Given the description of an element on the screen output the (x, y) to click on. 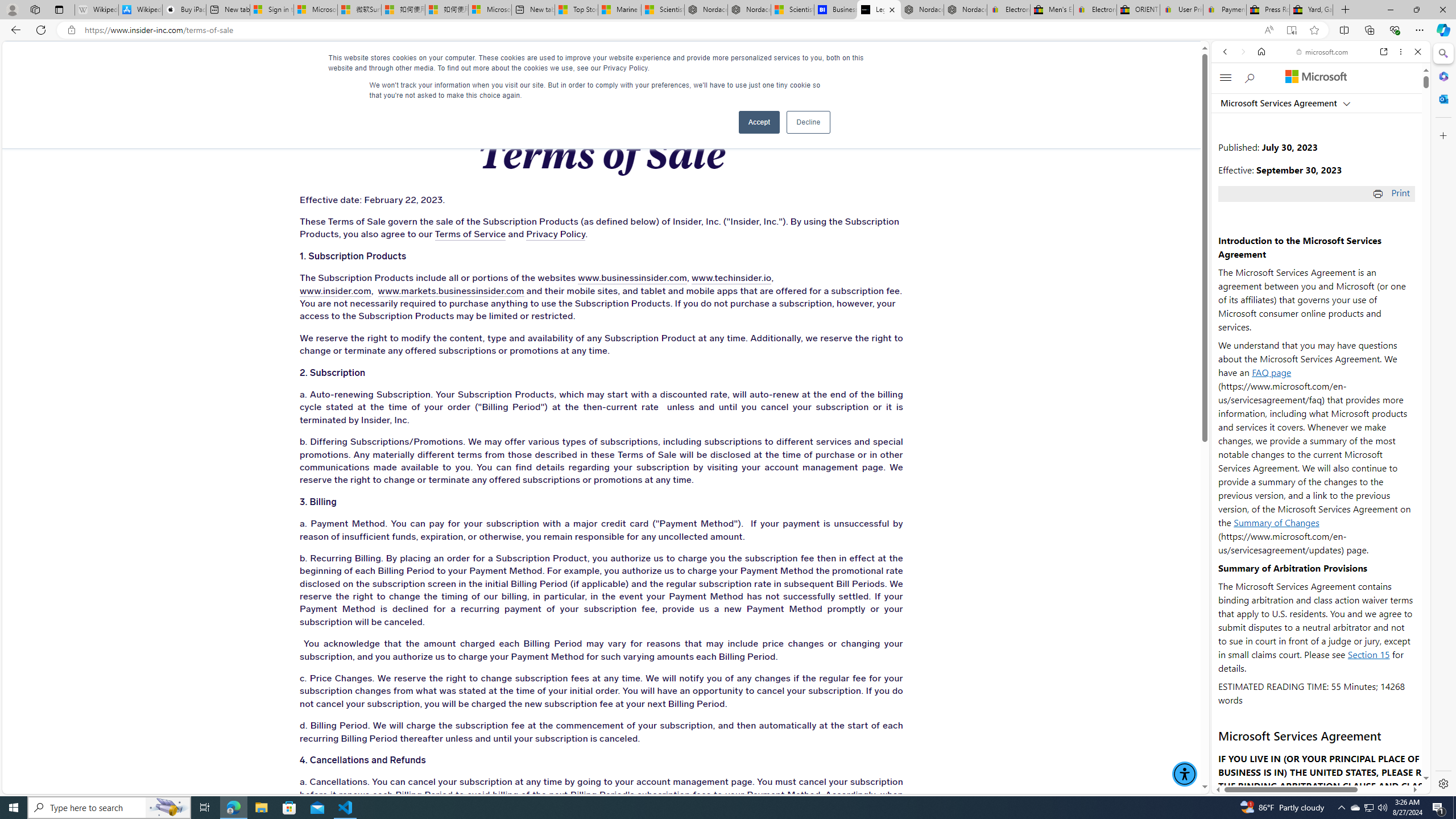
Summary of Changes (1276, 522)
Open in New Tab (1321, 768)
microsoft.com (1323, 51)
WHAT WE DO (260, 62)
